Given the description of an element on the screen output the (x, y) to click on. 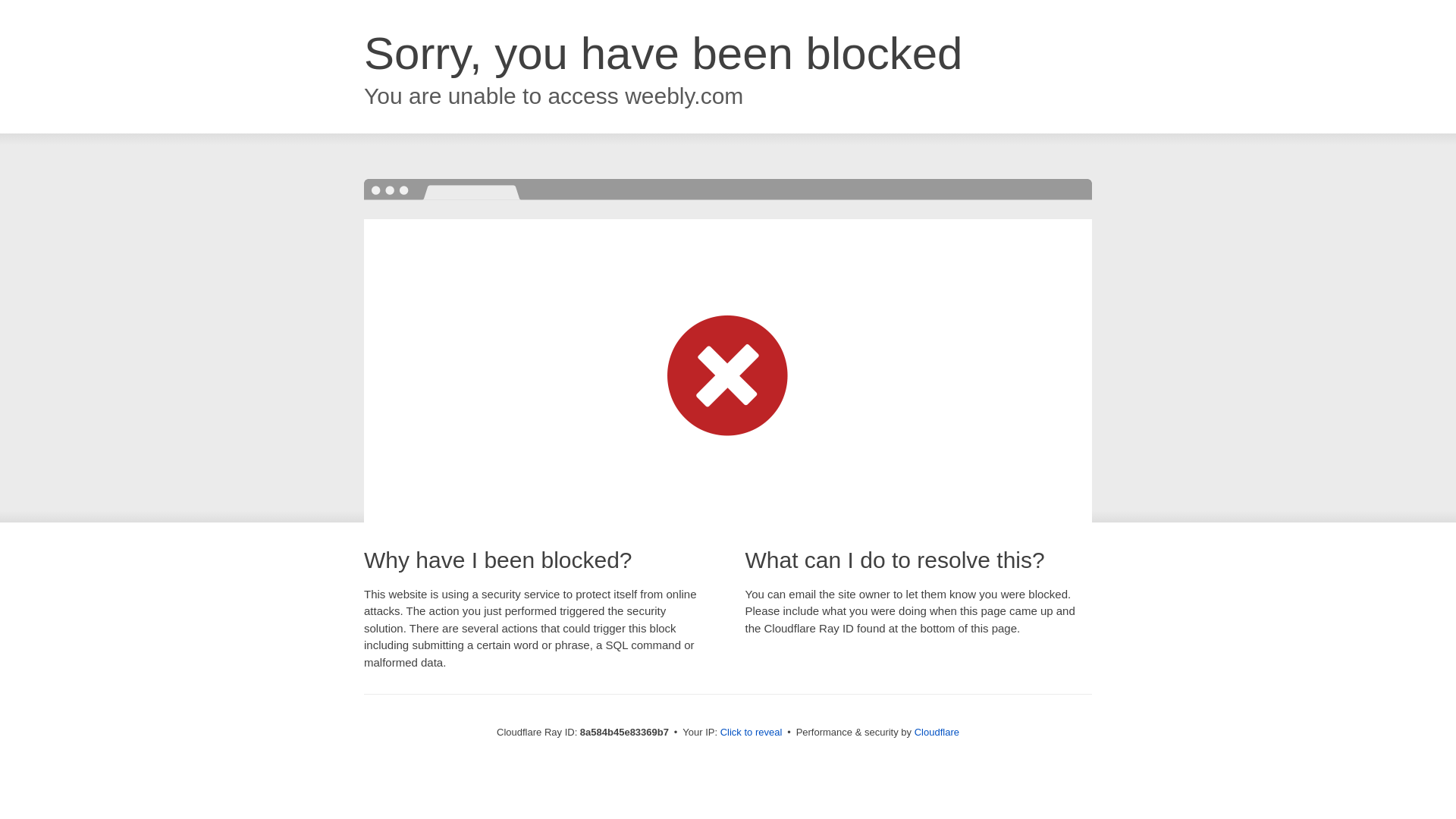
Click to reveal (751, 732)
Cloudflare (936, 731)
